Given the description of an element on the screen output the (x, y) to click on. 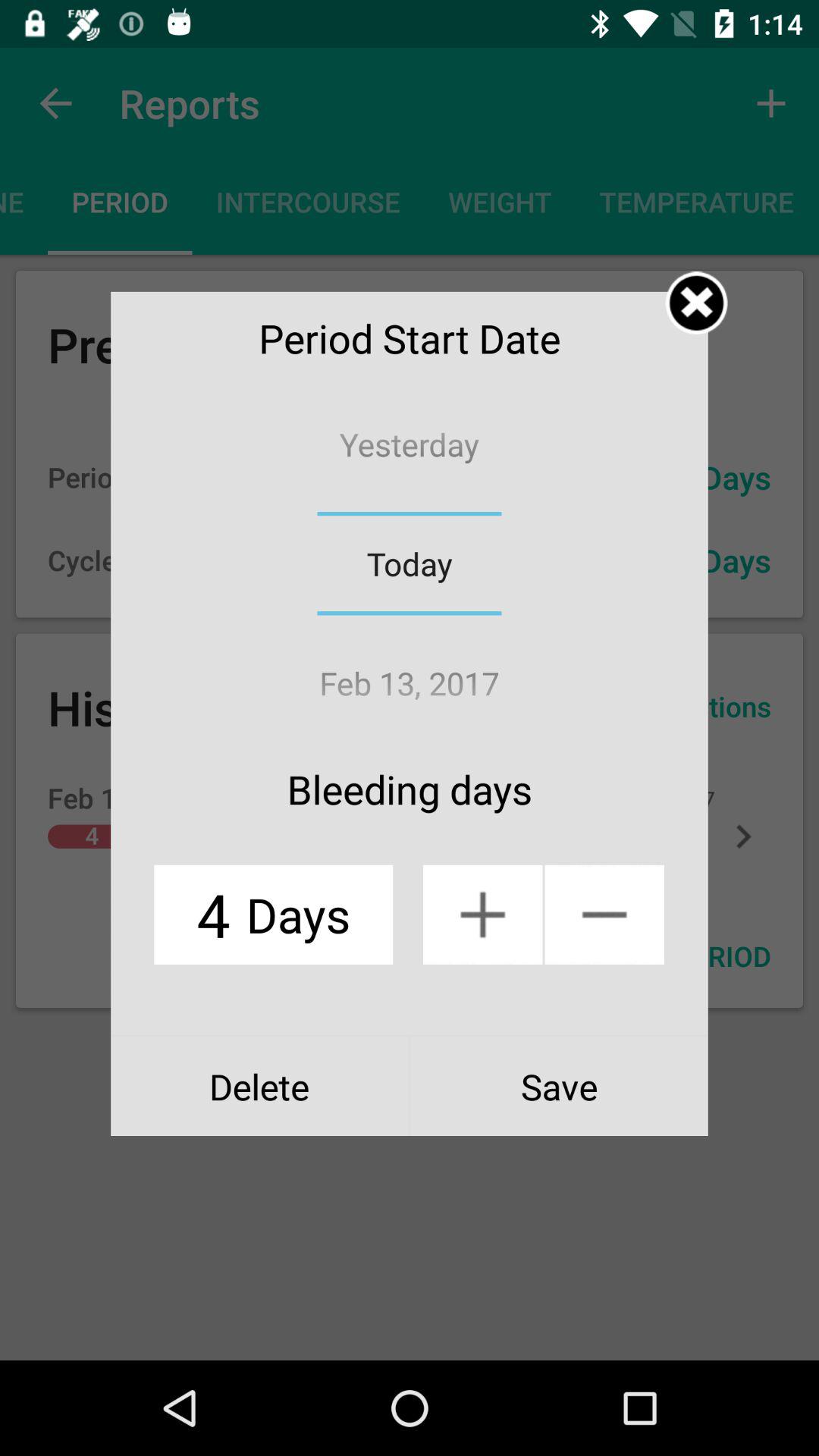
close button (696, 302)
